Given the description of an element on the screen output the (x, y) to click on. 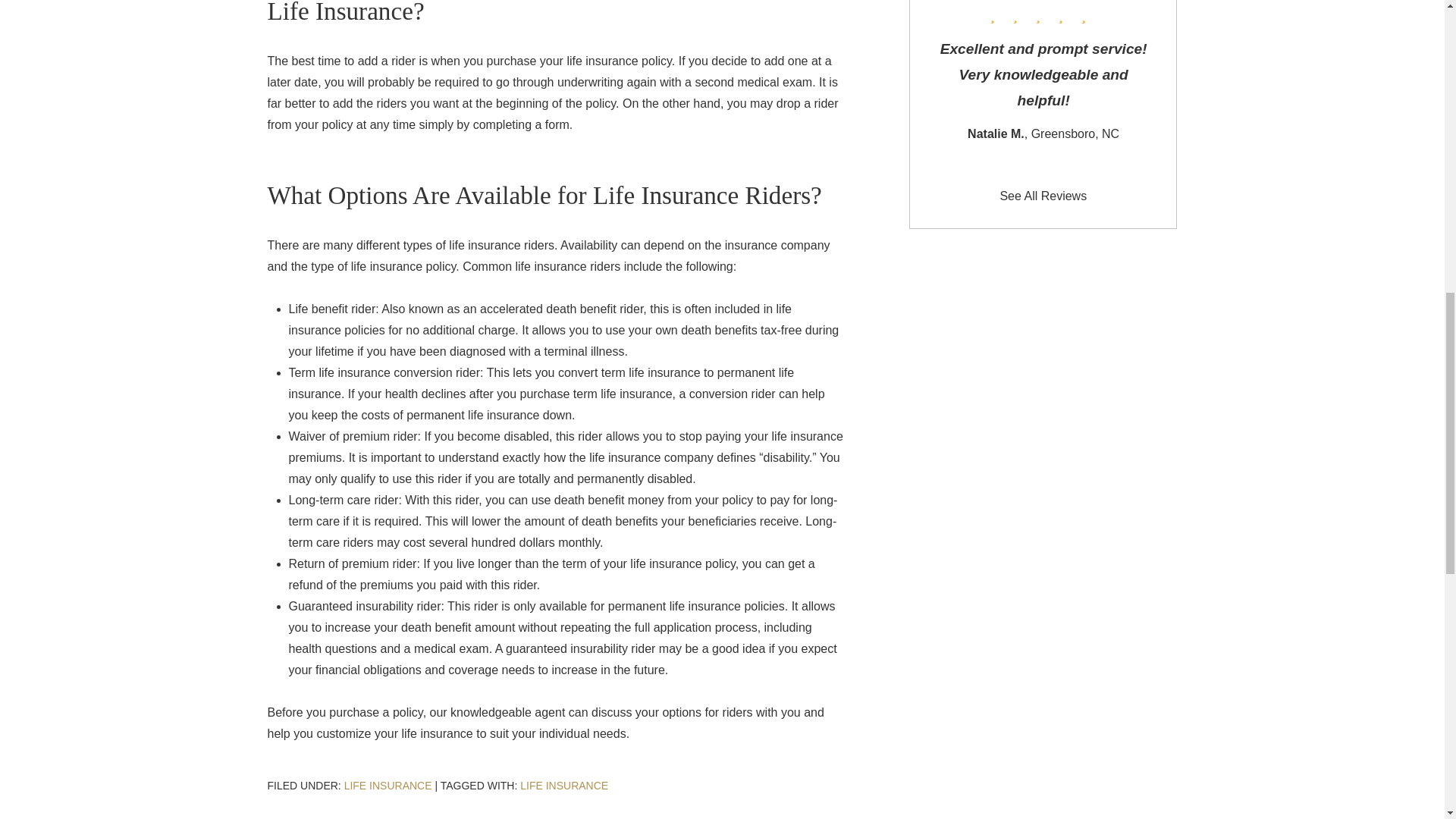
Life Insurance (563, 785)
Life Insurance (387, 785)
